Given the description of an element on the screen output the (x, y) to click on. 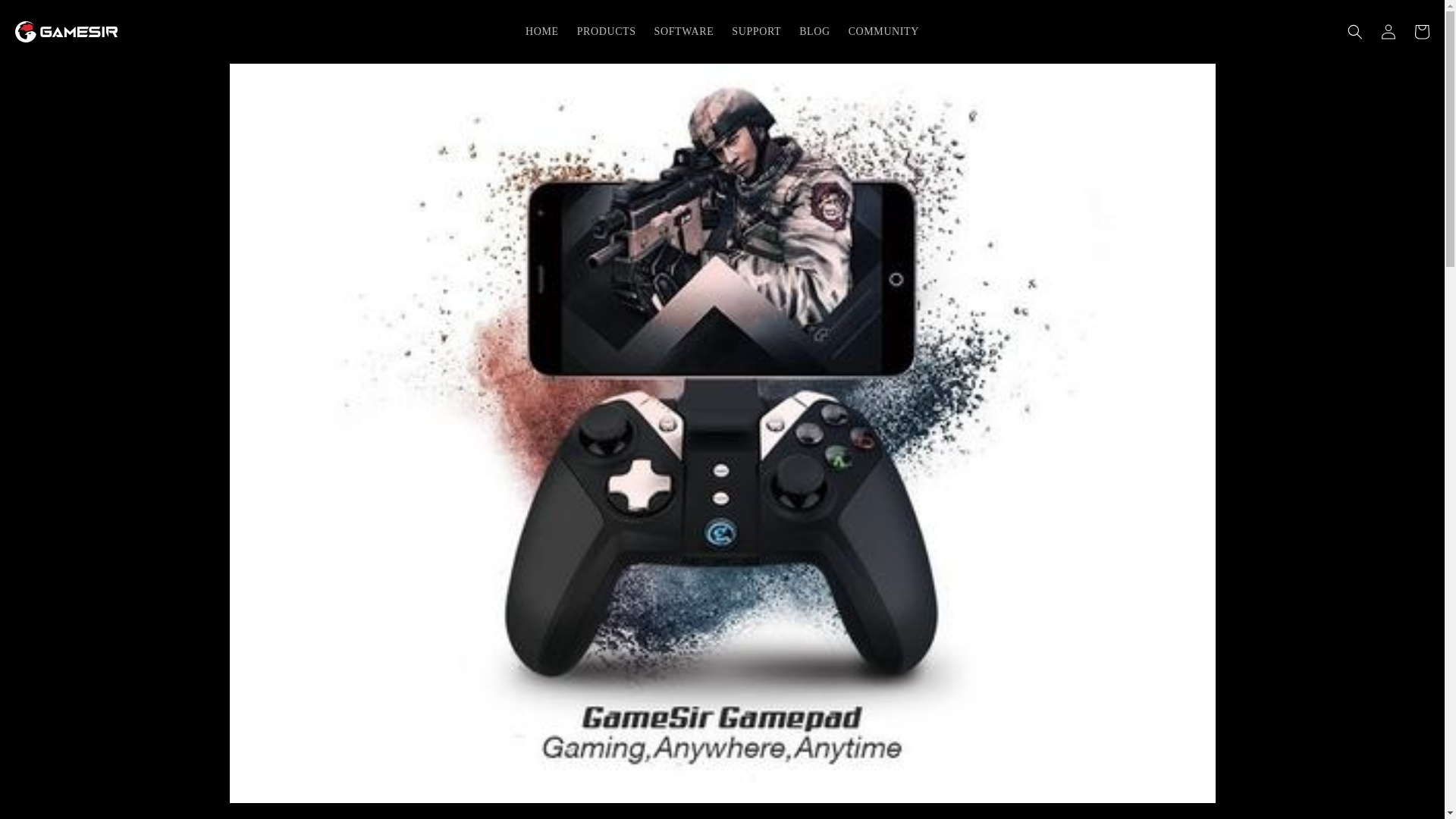
HOME (541, 31)
Skip to content (45, 17)
SUPPORT (756, 31)
BLOG (815, 31)
COMMUNITY (884, 31)
Cart (1421, 31)
PRODUCTS (606, 31)
SOFTWARE (684, 31)
Log in (1388, 31)
